Given the description of an element on the screen output the (x, y) to click on. 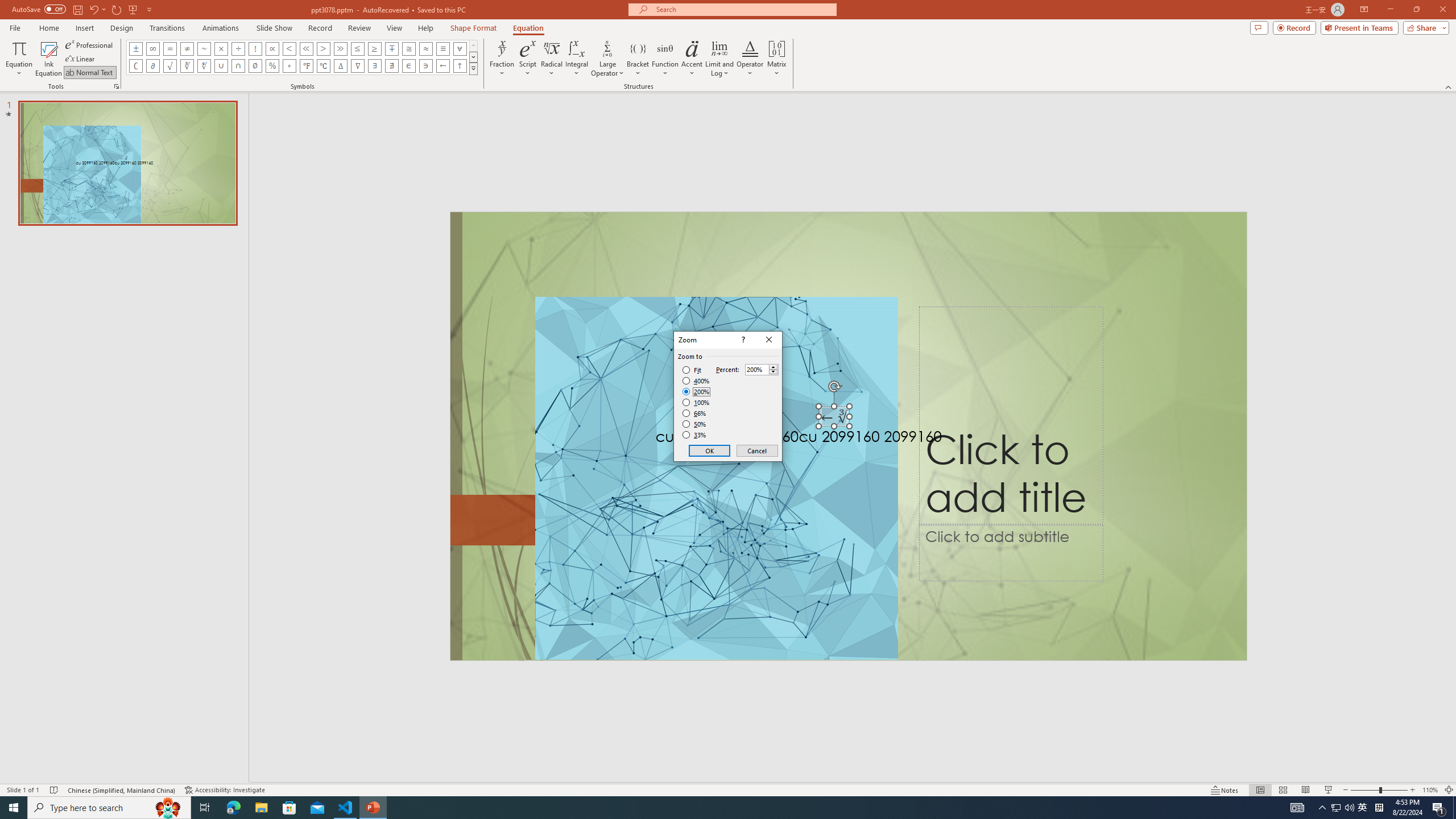
Equation Symbol Degrees Celsius (322, 65)
Linear (81, 58)
Equation Symbol Contains as Member (425, 65)
Equation Symbol Degrees (289, 65)
Equation Symbol Up Arrow (459, 65)
Equation Symbol Minus Plus (391, 48)
Matrix (776, 58)
